Given the description of an element on the screen output the (x, y) to click on. 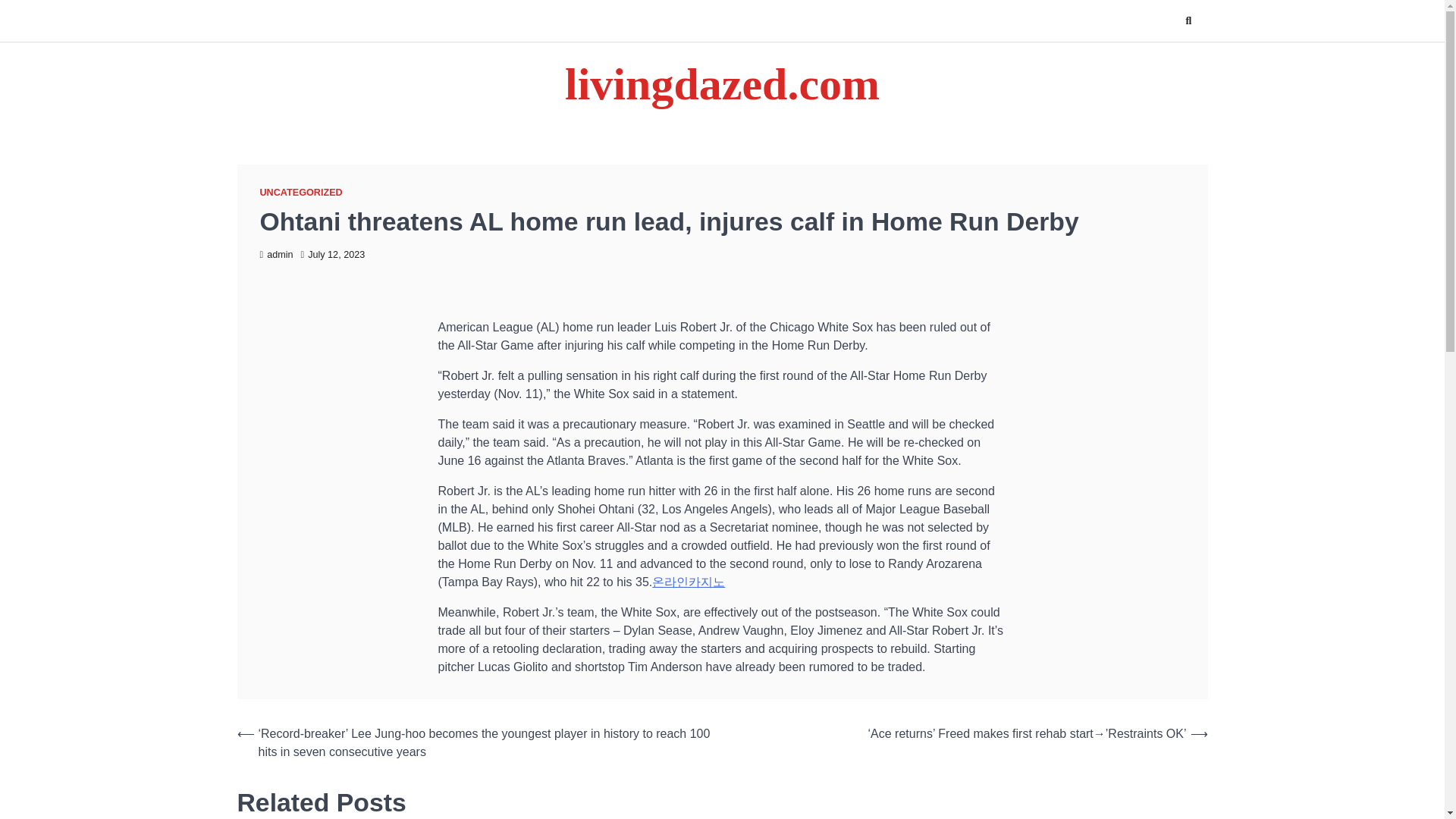
July 12, 2023 (333, 254)
livingdazed.com (721, 83)
admin (275, 254)
UNCATEGORIZED (300, 193)
Search (1168, 55)
Search (1187, 20)
